Given the description of an element on the screen output the (x, y) to click on. 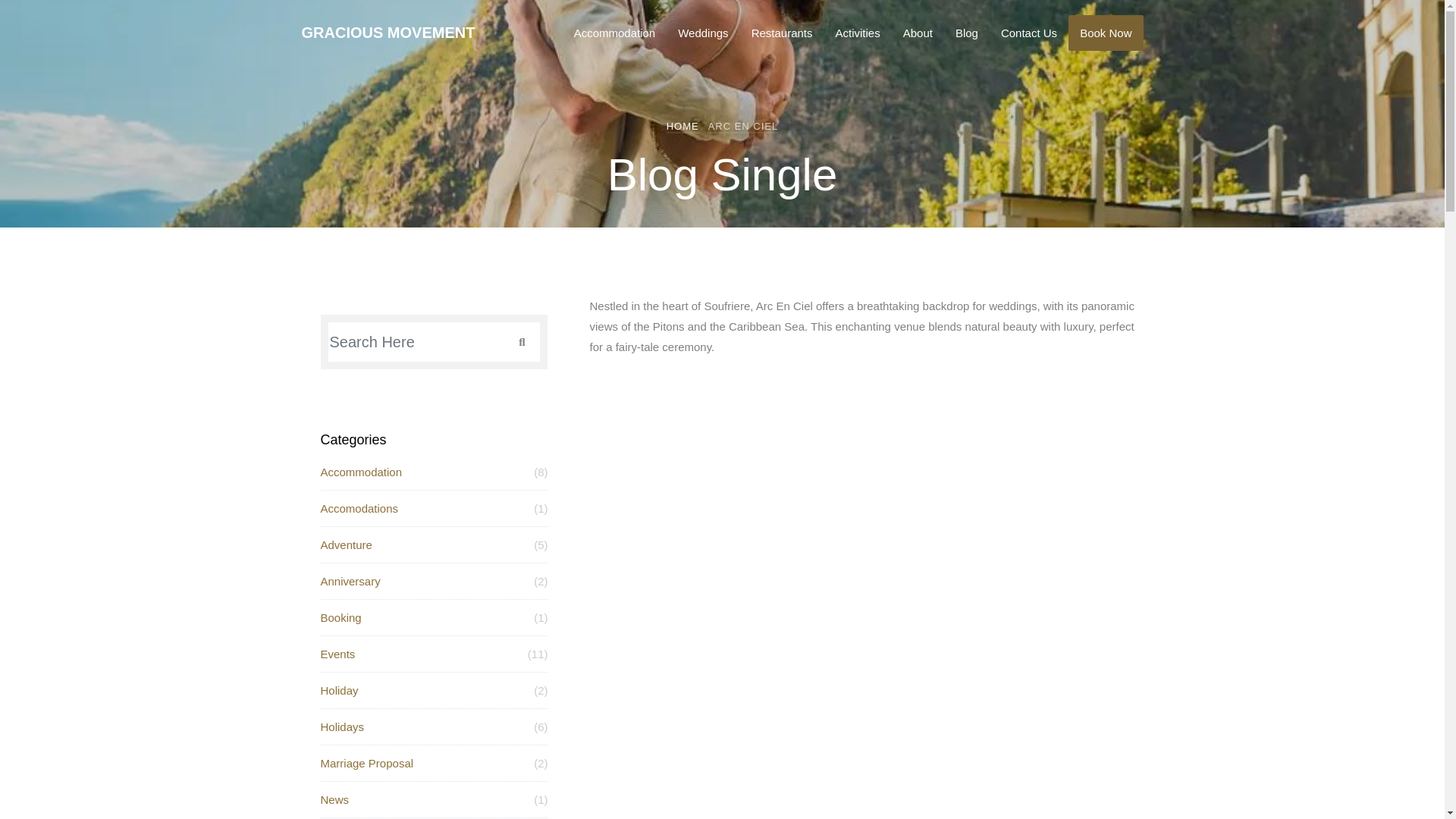
Contact Us (1029, 32)
Restaurants (781, 32)
Accommodation (614, 32)
About (917, 32)
HOME (682, 126)
Activities (857, 32)
Book Now (1105, 32)
Blog (966, 32)
Weddings (702, 32)
GRACIOUS MOVEMENT (388, 32)
